Given the description of an element on the screen output the (x, y) to click on. 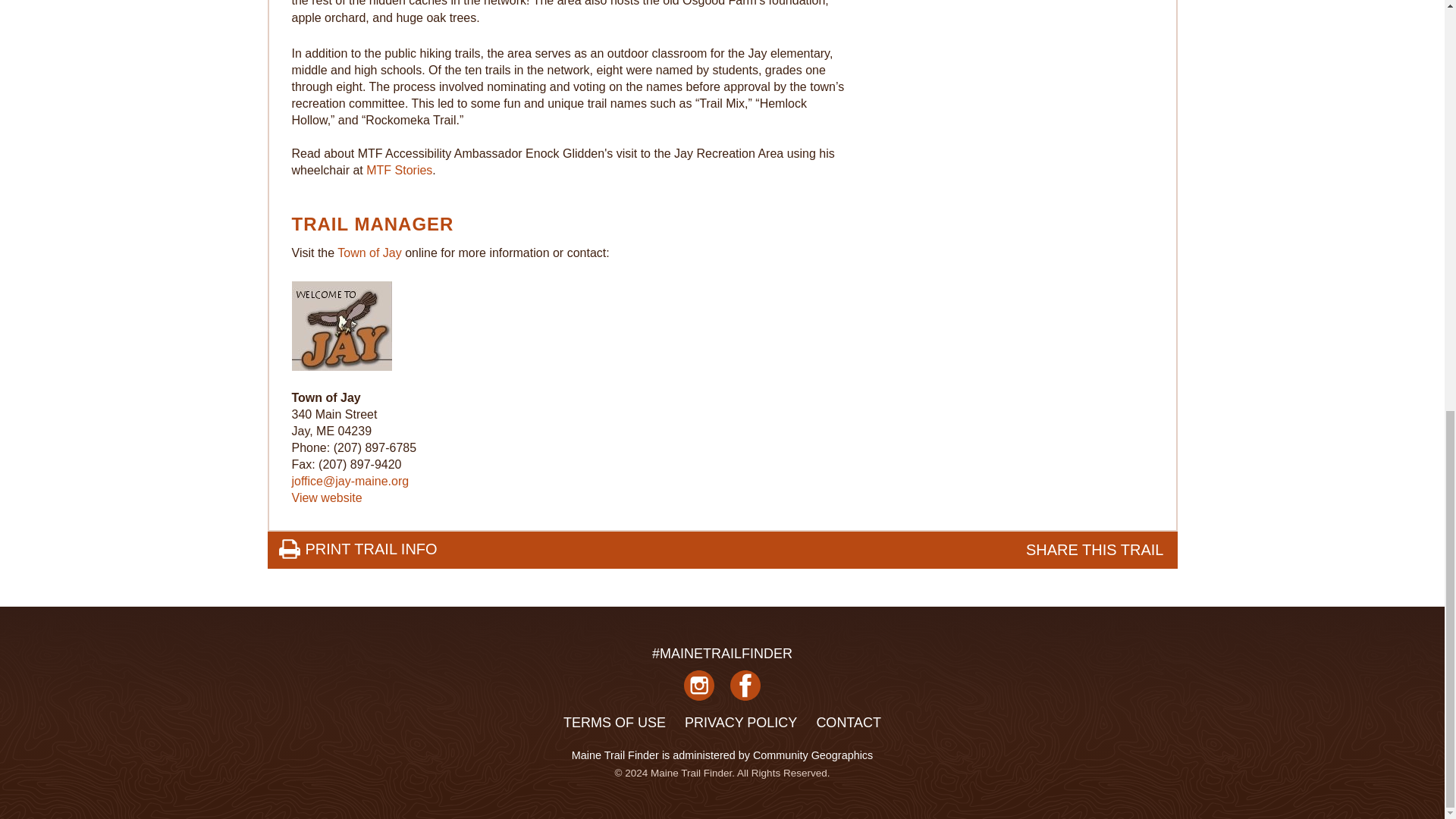
Follow us on Instagram (699, 691)
Follow us on Facebook (745, 691)
